Given the description of an element on the screen output the (x, y) to click on. 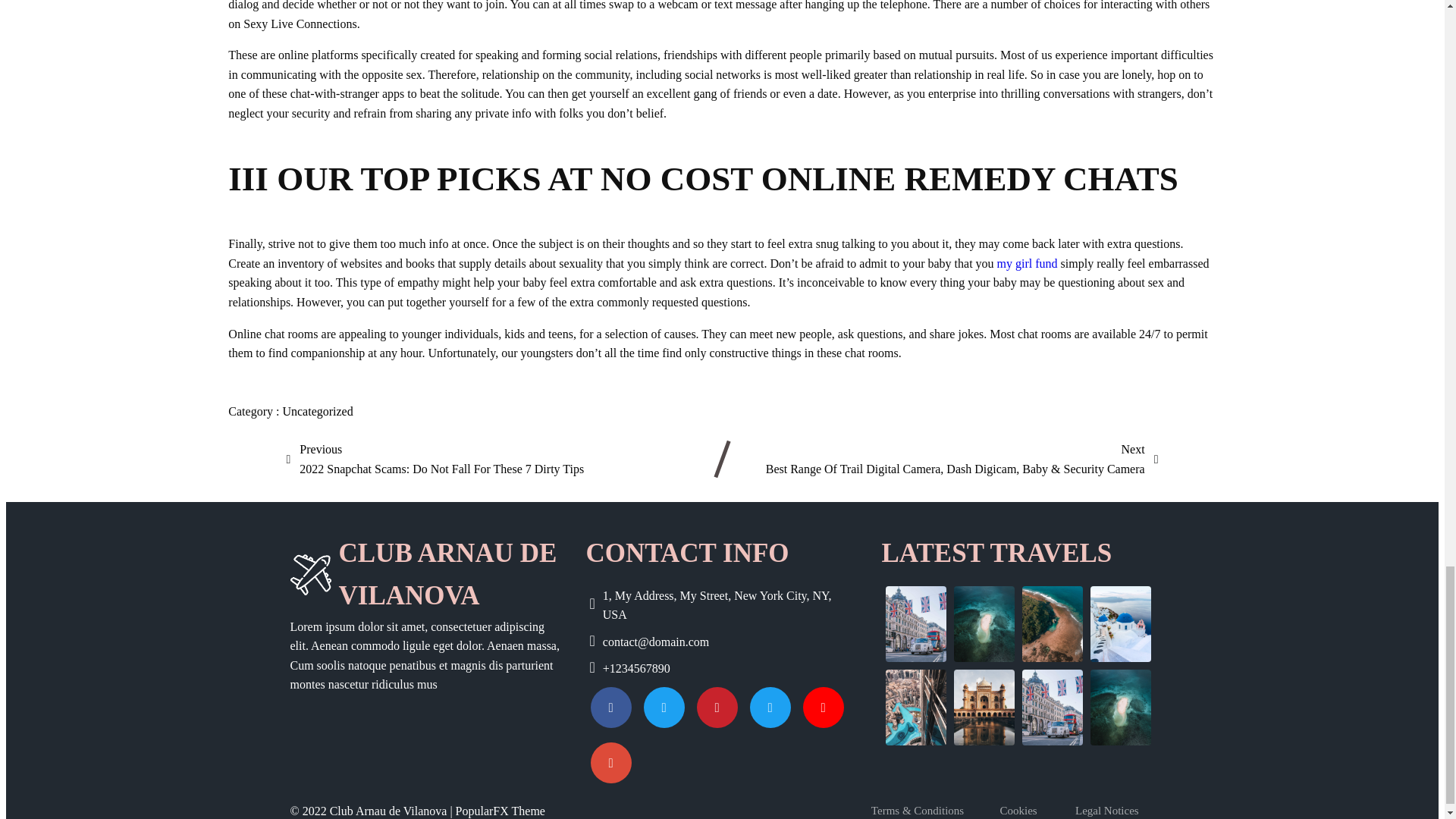
my girl fund (1027, 263)
PopularFX Theme (499, 810)
logo-alt (309, 574)
CLUB ARNAU DE VILANOVA (425, 574)
Uncategorized (317, 410)
